Given the description of an element on the screen output the (x, y) to click on. 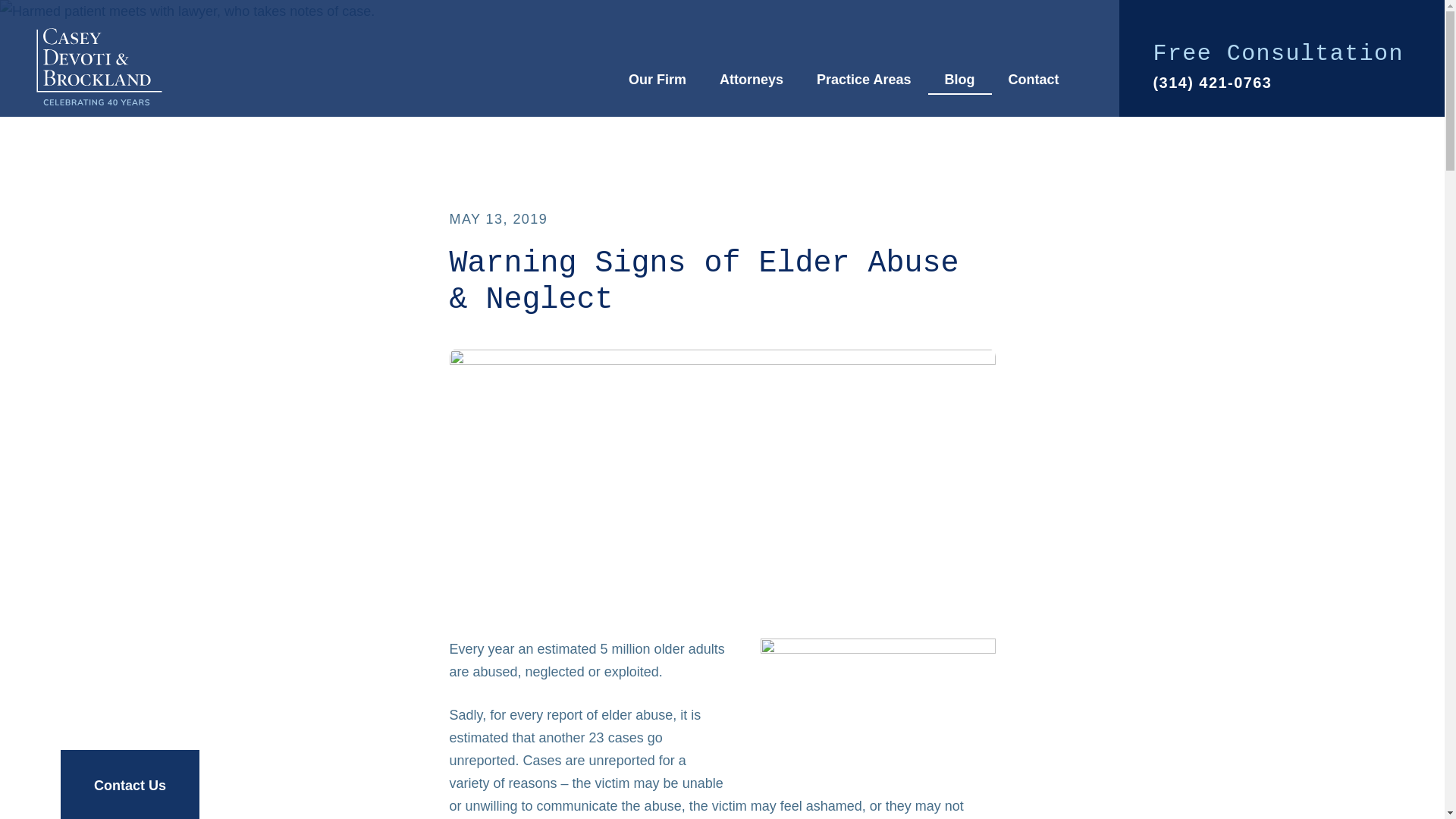
Blog (958, 79)
Attorneys (751, 79)
Our Firm (656, 79)
Practice Areas (863, 79)
Contact (1032, 79)
